Given the description of an element on the screen output the (x, y) to click on. 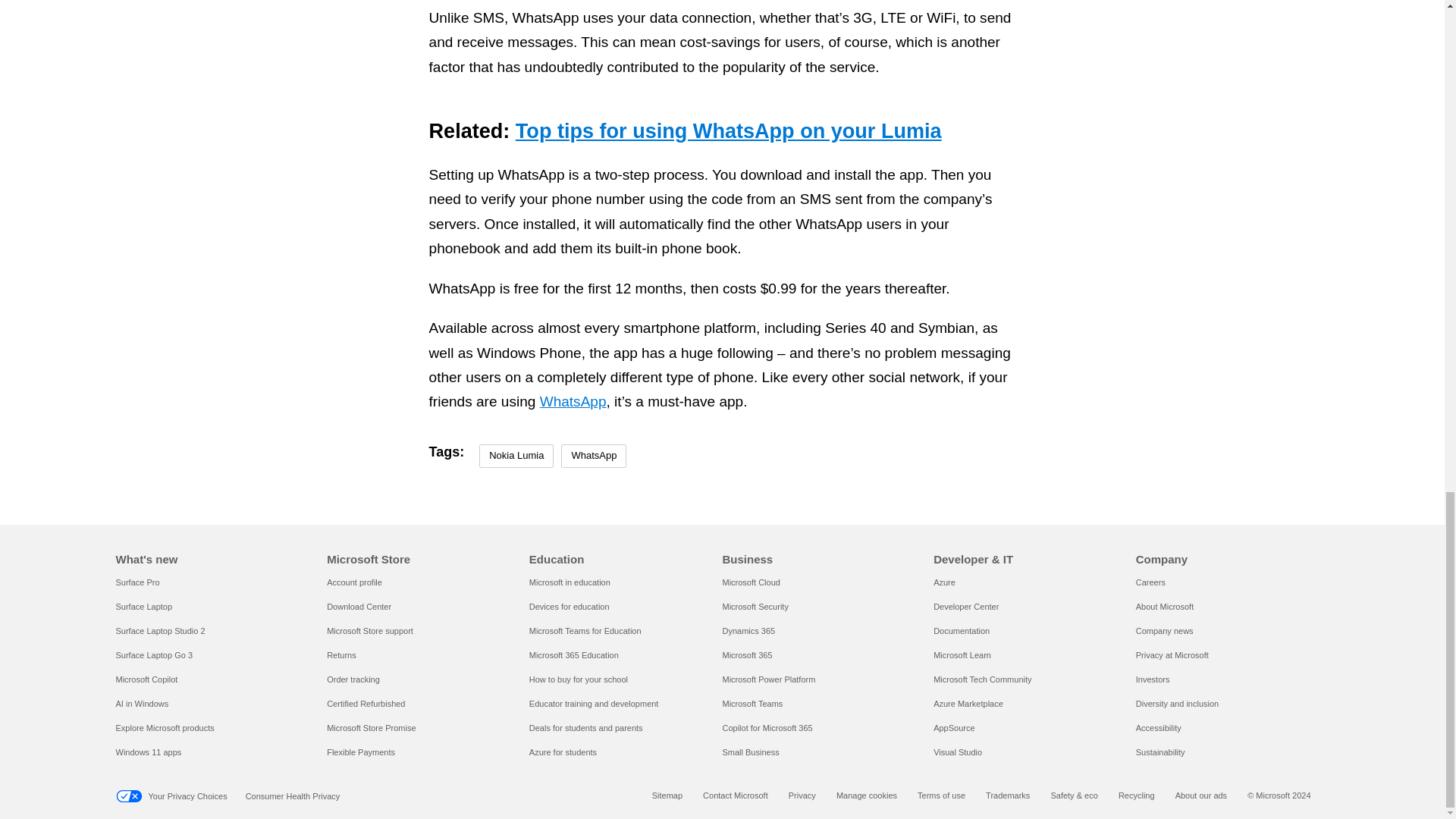
WhatsApp Tag (593, 455)
whatsapp (260, 181)
Nokia Lumia Tag (516, 455)
